Given the description of an element on the screen output the (x, y) to click on. 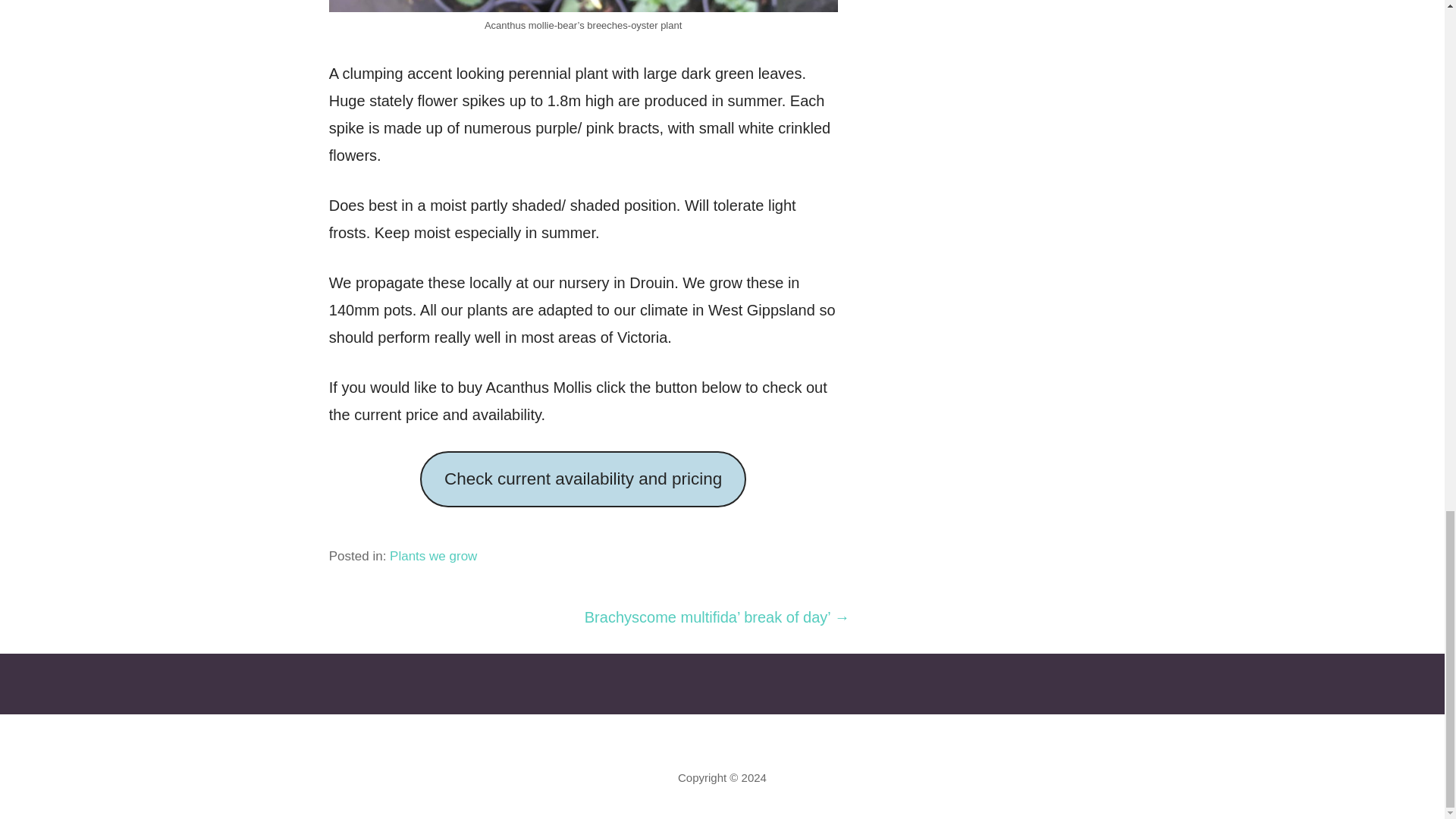
Plants we grow (433, 555)
Check current availability and pricing (582, 479)
